Given the description of an element on the screen output the (x, y) to click on. 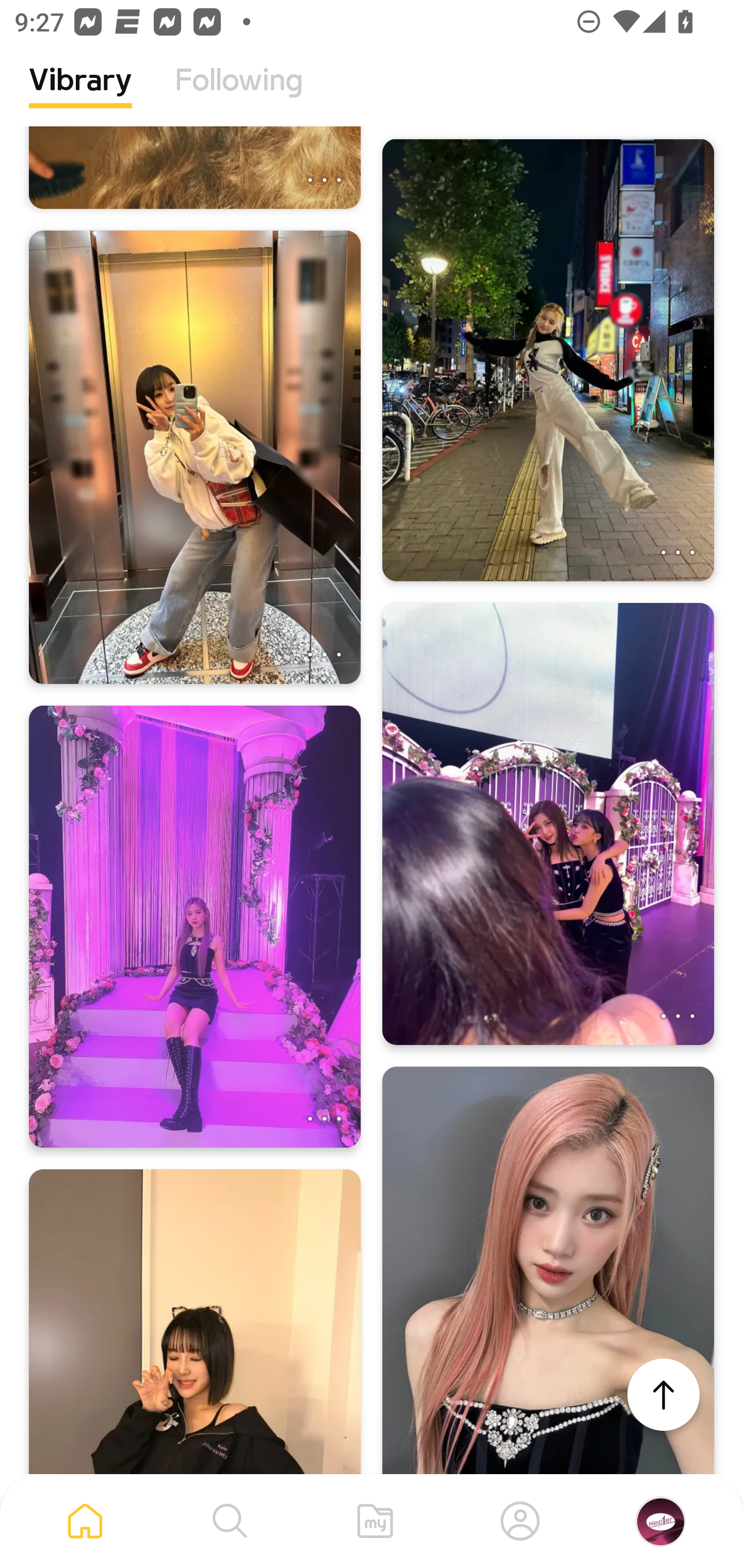
Vibrary (80, 95)
Following (239, 95)
